Given the description of an element on the screen output the (x, y) to click on. 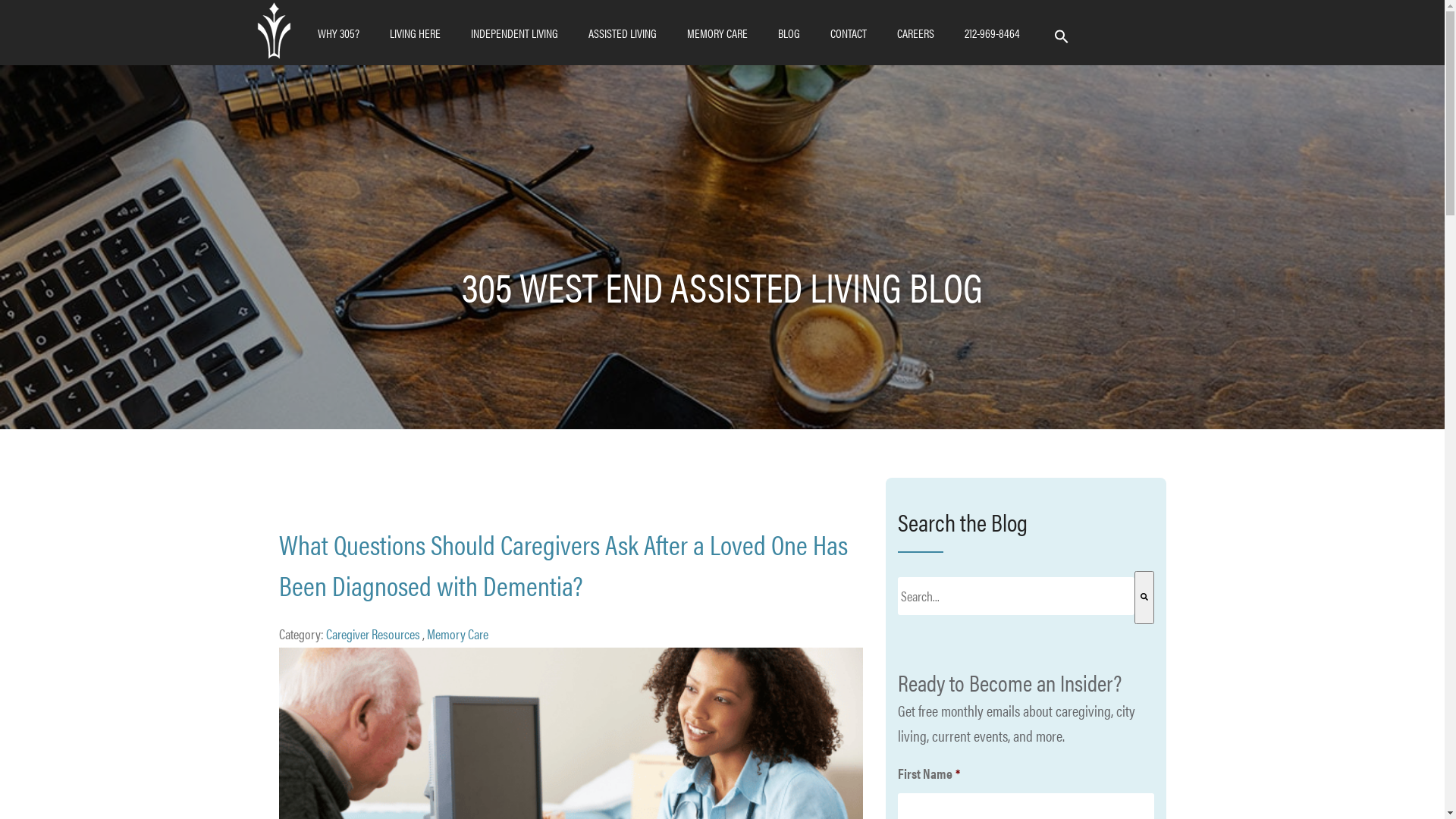
BLOG Element type: text (788, 33)
212-969-8464 Element type: text (992, 33)
Caregiver Resources Element type: text (373, 633)
CAREERS Element type: text (914, 33)
WHY 305? Element type: text (337, 33)
MEMORY CARE Element type: text (716, 33)
logo-emblem-small Element type: hover (273, 30)
INDEPENDENT LIVING Element type: text (513, 33)
Memory Care Element type: text (456, 633)
ASSISTED LIVING Element type: text (622, 33)
CONTACT Element type: text (847, 33)
305 WEST END ASSISTED LIVING BLOG Element type: text (721, 285)
LIVING HERE Element type: text (414, 33)
